Given the description of an element on the screen output the (x, y) to click on. 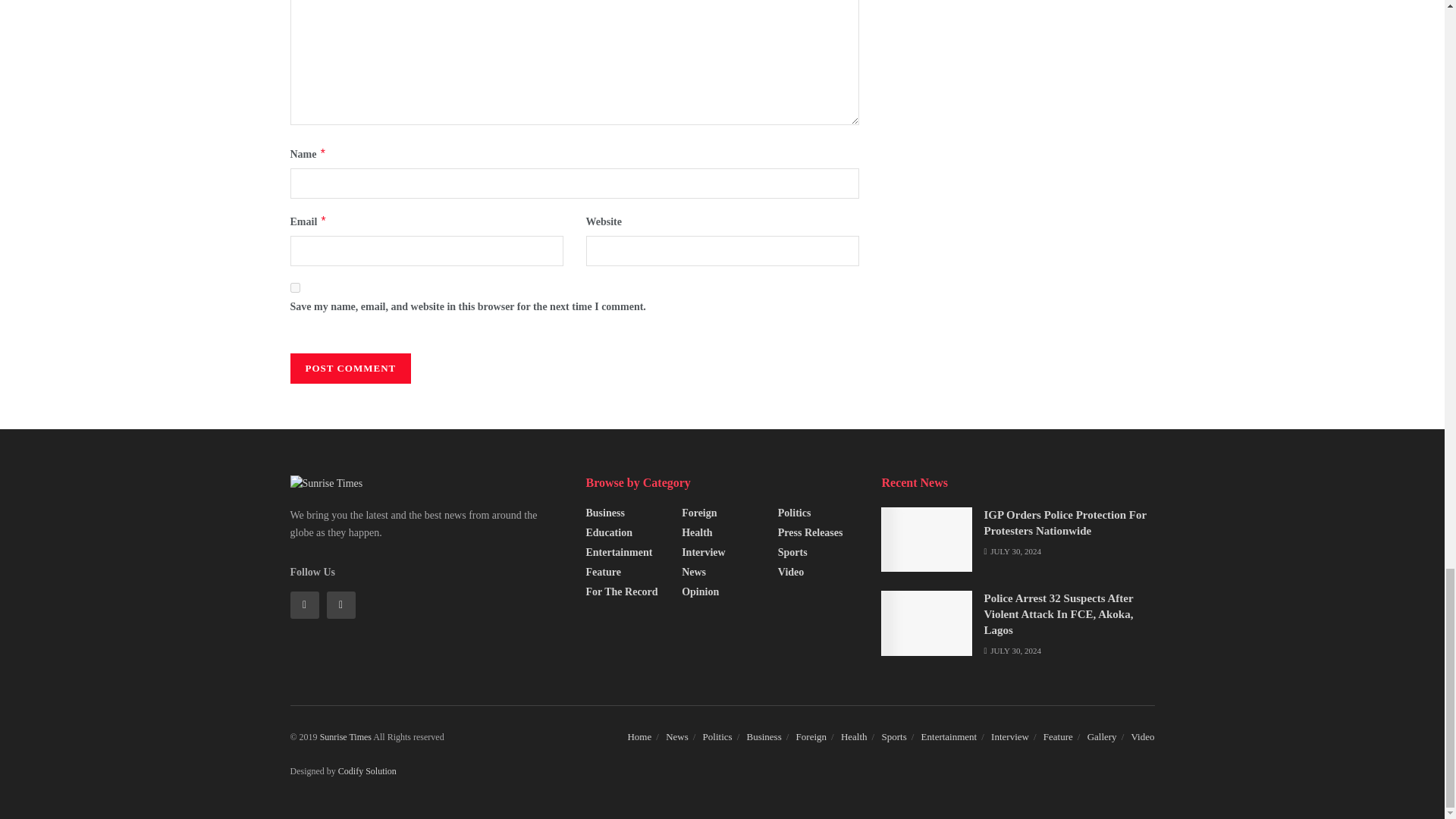
Post Comment (349, 368)
yes (294, 287)
Top News Site (347, 737)
